Given the description of an element on the screen output the (x, y) to click on. 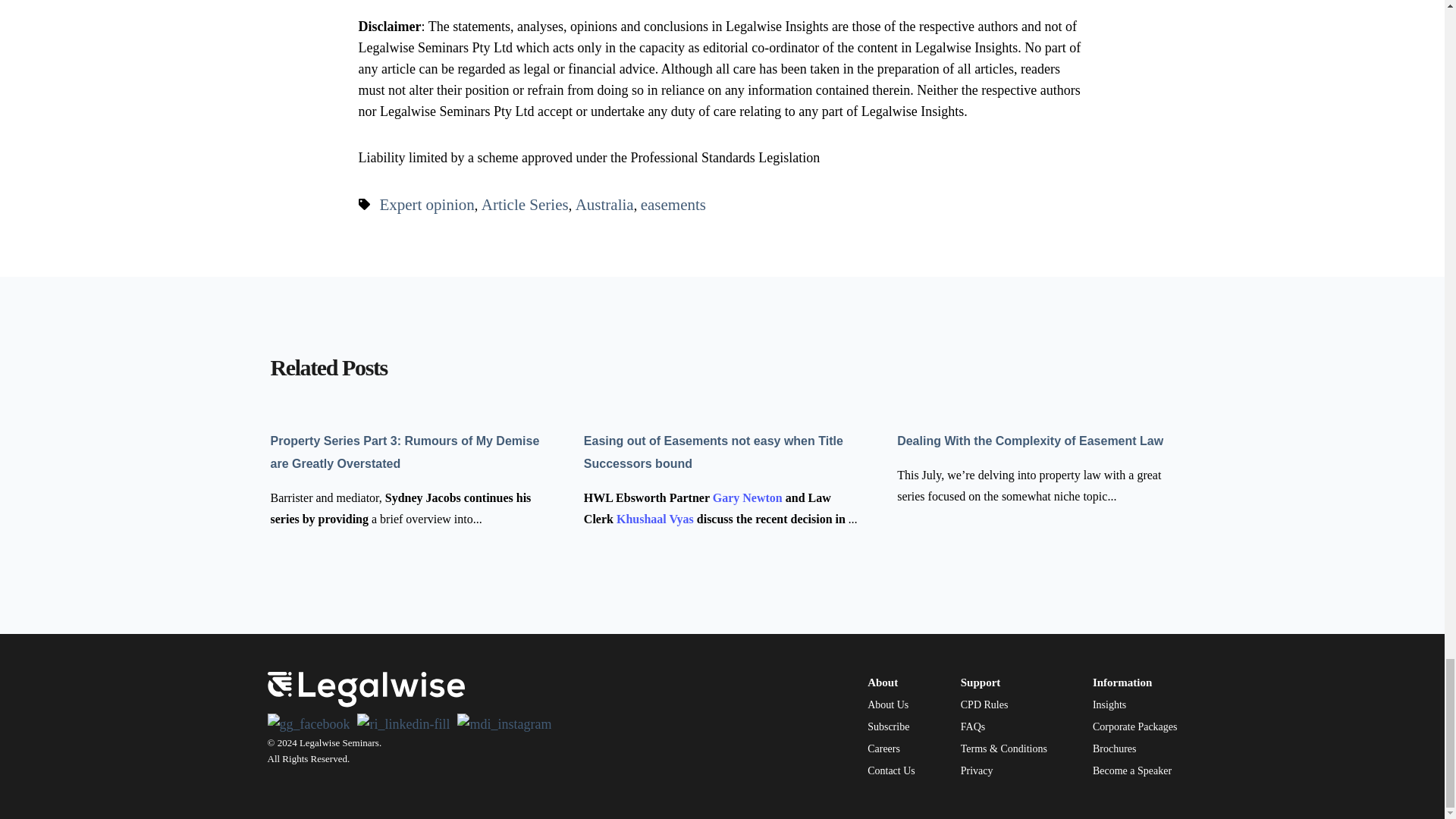
Expert opinion (426, 204)
